Given the description of an element on the screen output the (x, y) to click on. 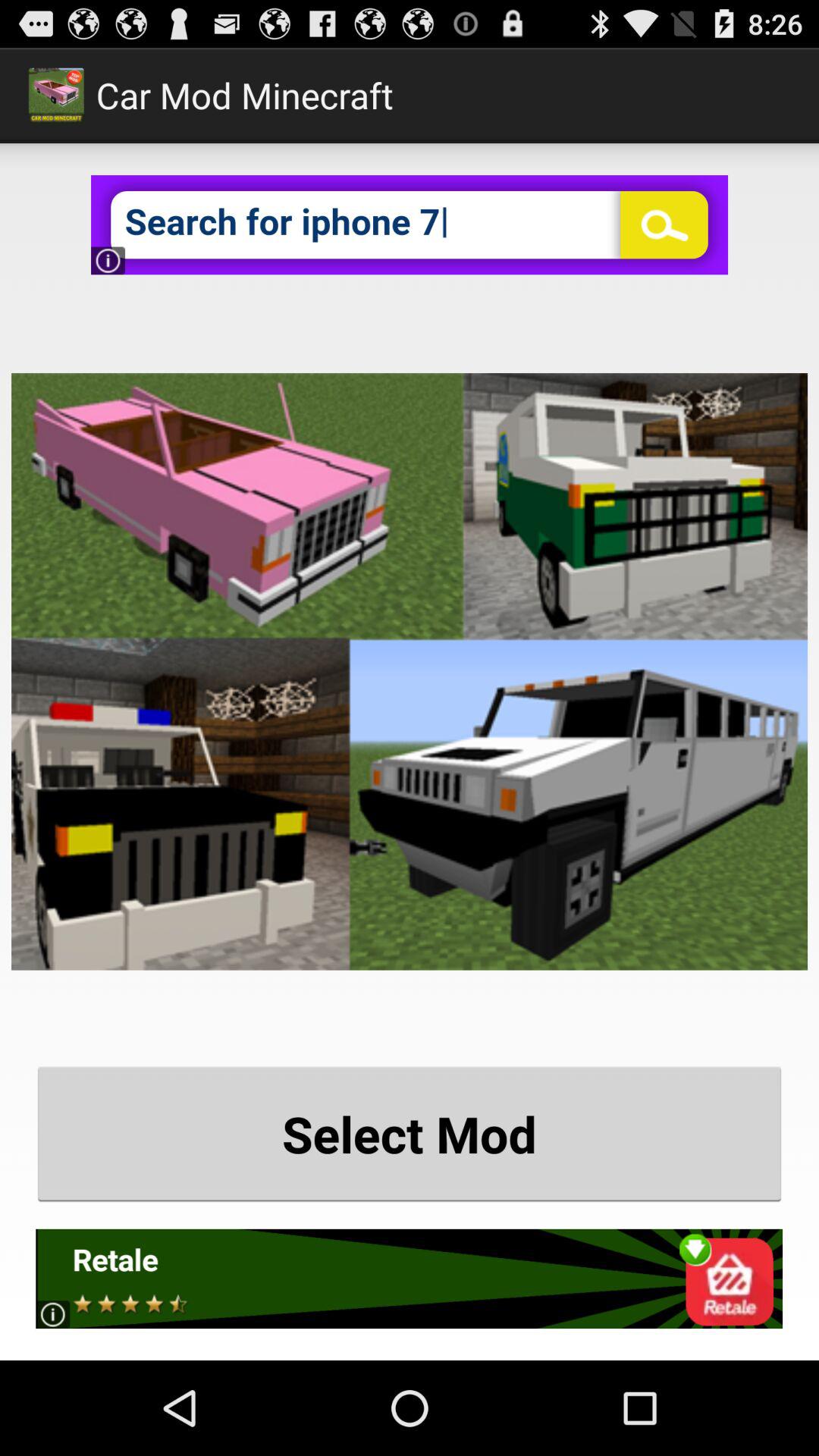
jump until the select mod icon (409, 1133)
